Given the description of an element on the screen output the (x, y) to click on. 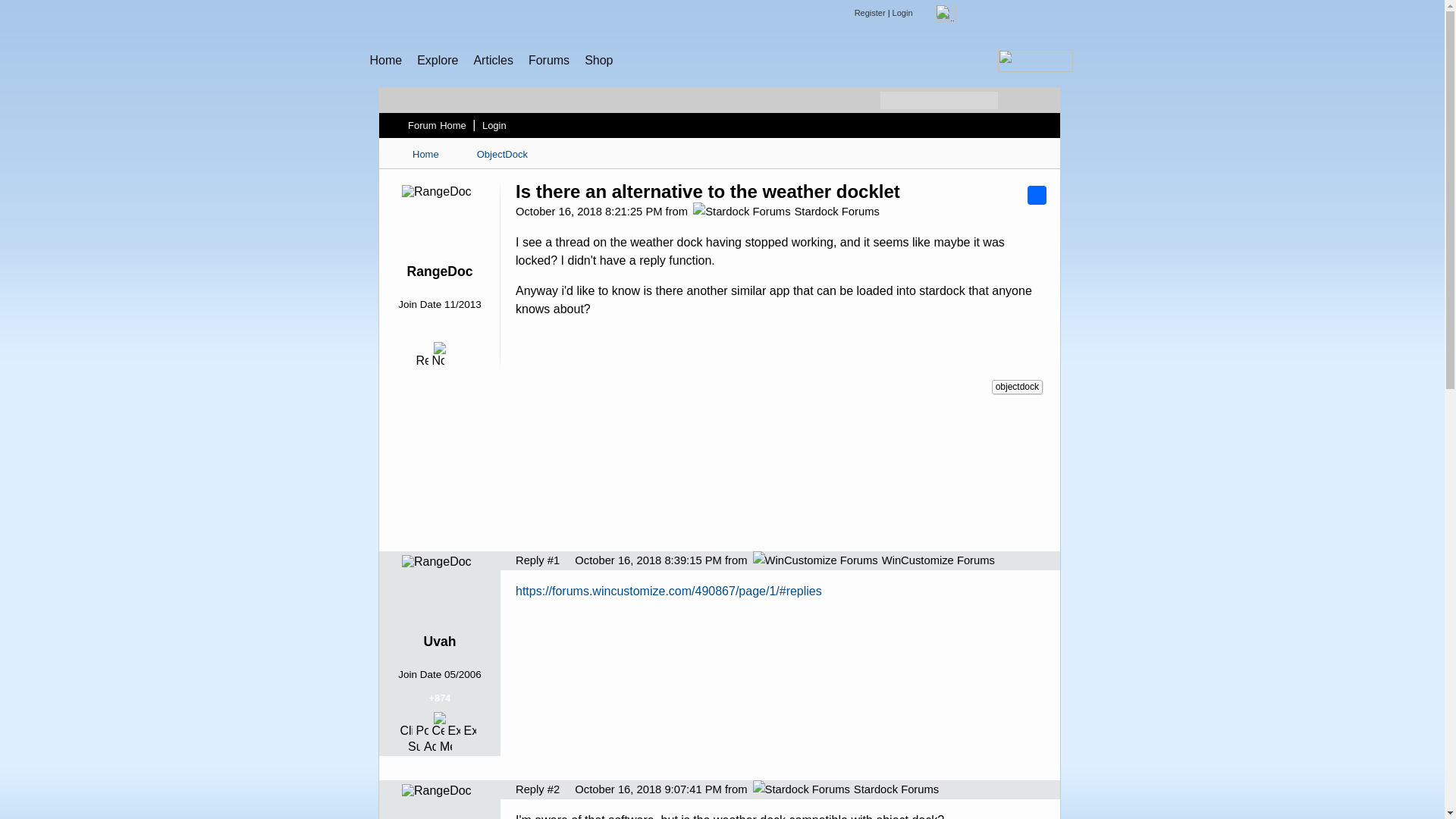
Shop (598, 60)
query (1018, 14)
Is there an alternative to the weather docklet (707, 191)
Click user name to view more options. (438, 271)
Forum Home (436, 125)
all (946, 13)
View RangeDoc's Karma (439, 330)
RangeDoc (438, 271)
Articles (492, 60)
Login (493, 125)
